Given the description of an element on the screen output the (x, y) to click on. 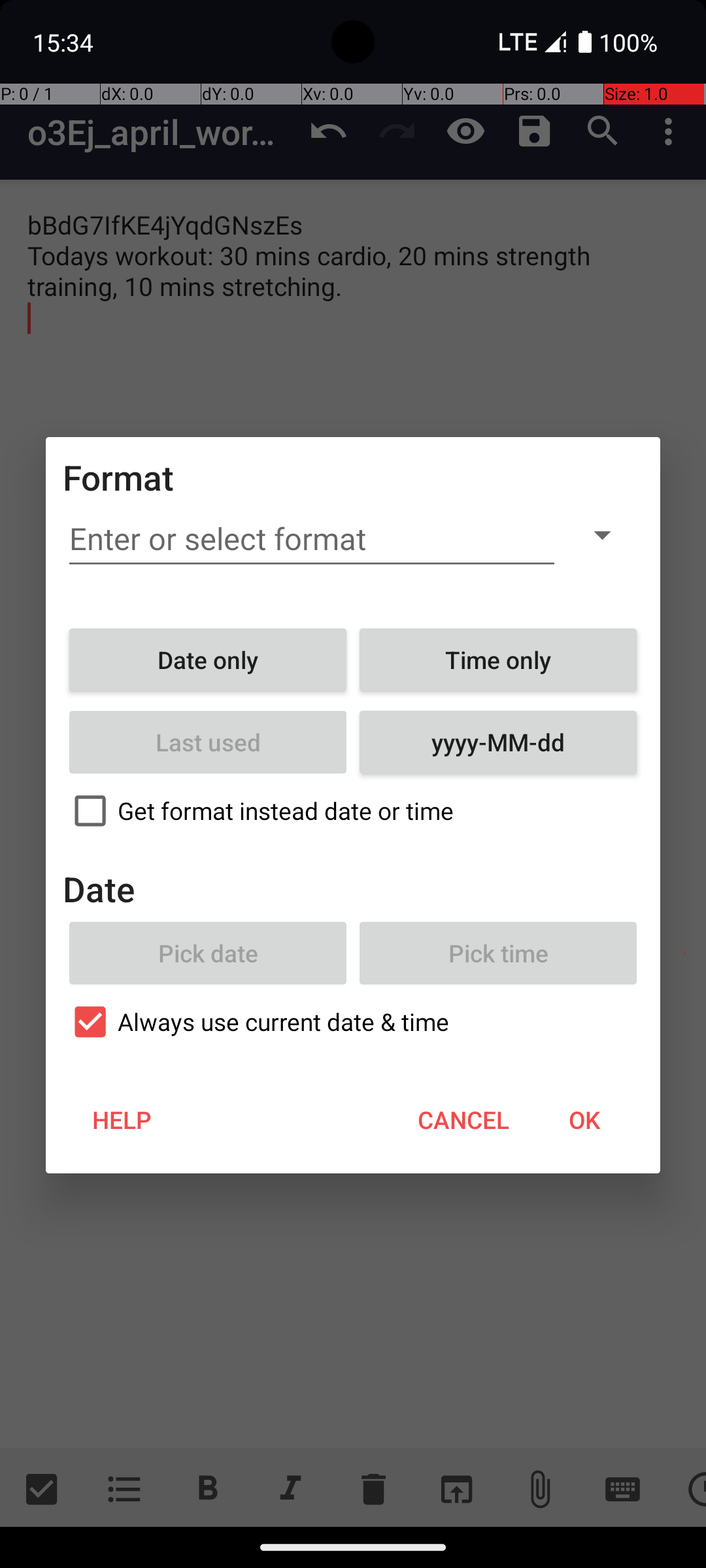
Enter or select format Element type: android.widget.EditText (311, 538)
